Given the description of an element on the screen output the (x, y) to click on. 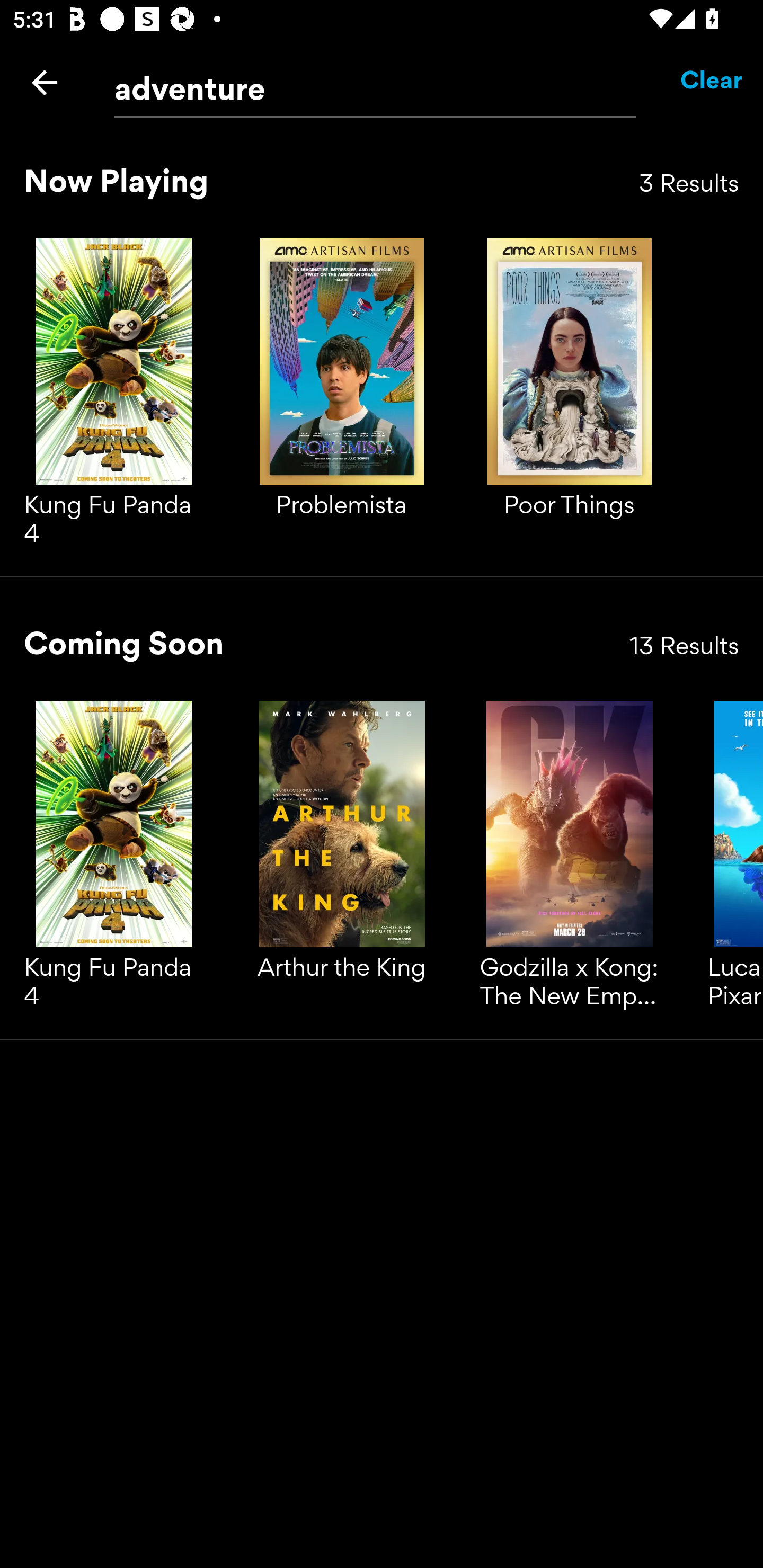
Back (44, 82)
Clear (712, 82)
adventure (374, 82)
Kung Fu Panda 4 (114, 397)
Problemista (341, 397)
Poor Things (569, 397)
Kung Fu Panda 4 (114, 860)
Arthur the King (341, 860)
Godzilla x Kong: The New Empire (569, 860)
